Given the description of an element on the screen output the (x, y) to click on. 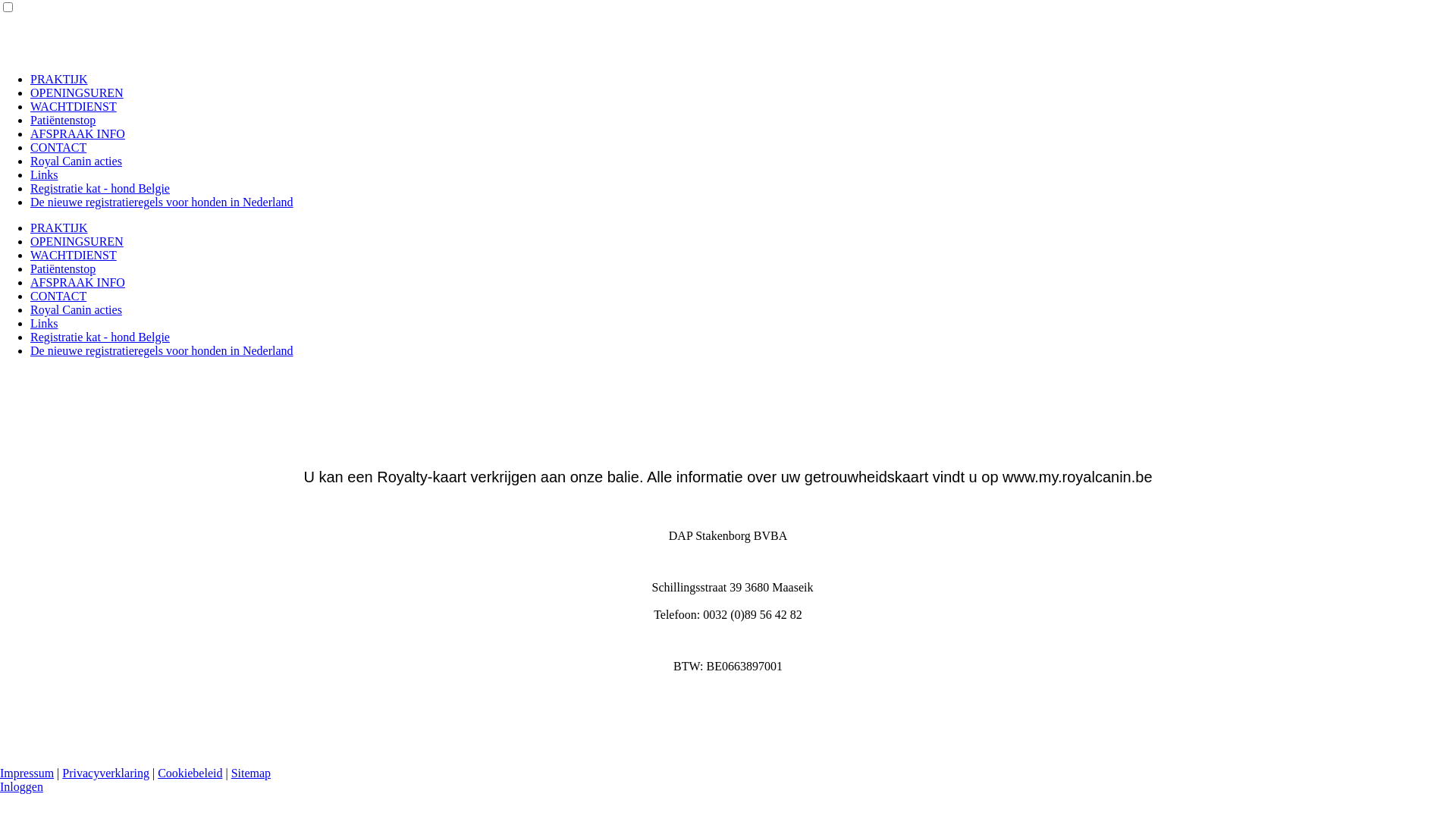
PRAKTIJK Element type: text (58, 78)
Inloggen Element type: text (21, 786)
CONTACT Element type: text (58, 147)
Sitemap Element type: text (250, 772)
OPENINGSUREN Element type: text (76, 241)
Registratie kat - hond Belgie Element type: text (99, 188)
PRAKTIJK Element type: text (58, 227)
Royal Canin acties Element type: text (76, 309)
Links Element type: text (43, 322)
Impressum Element type: text (26, 772)
Links Element type: text (43, 174)
AFSPRAAK INFO Element type: text (77, 133)
CONTACT Element type: text (58, 295)
De nieuwe registratieregels voor honden in Nederland Element type: text (161, 350)
Registratie kat - hond Belgie Element type: text (99, 336)
Royal Canin acties Element type: text (76, 160)
AFSPRAAK INFO Element type: text (77, 282)
WACHTDIENST Element type: text (73, 106)
De nieuwe registratieregels voor honden in Nederland Element type: text (161, 201)
Cookiebeleid Element type: text (189, 772)
OPENINGSUREN Element type: text (76, 92)
WACHTDIENST Element type: text (73, 254)
Privacyverklaring Element type: text (105, 772)
